Given the description of an element on the screen output the (x, y) to click on. 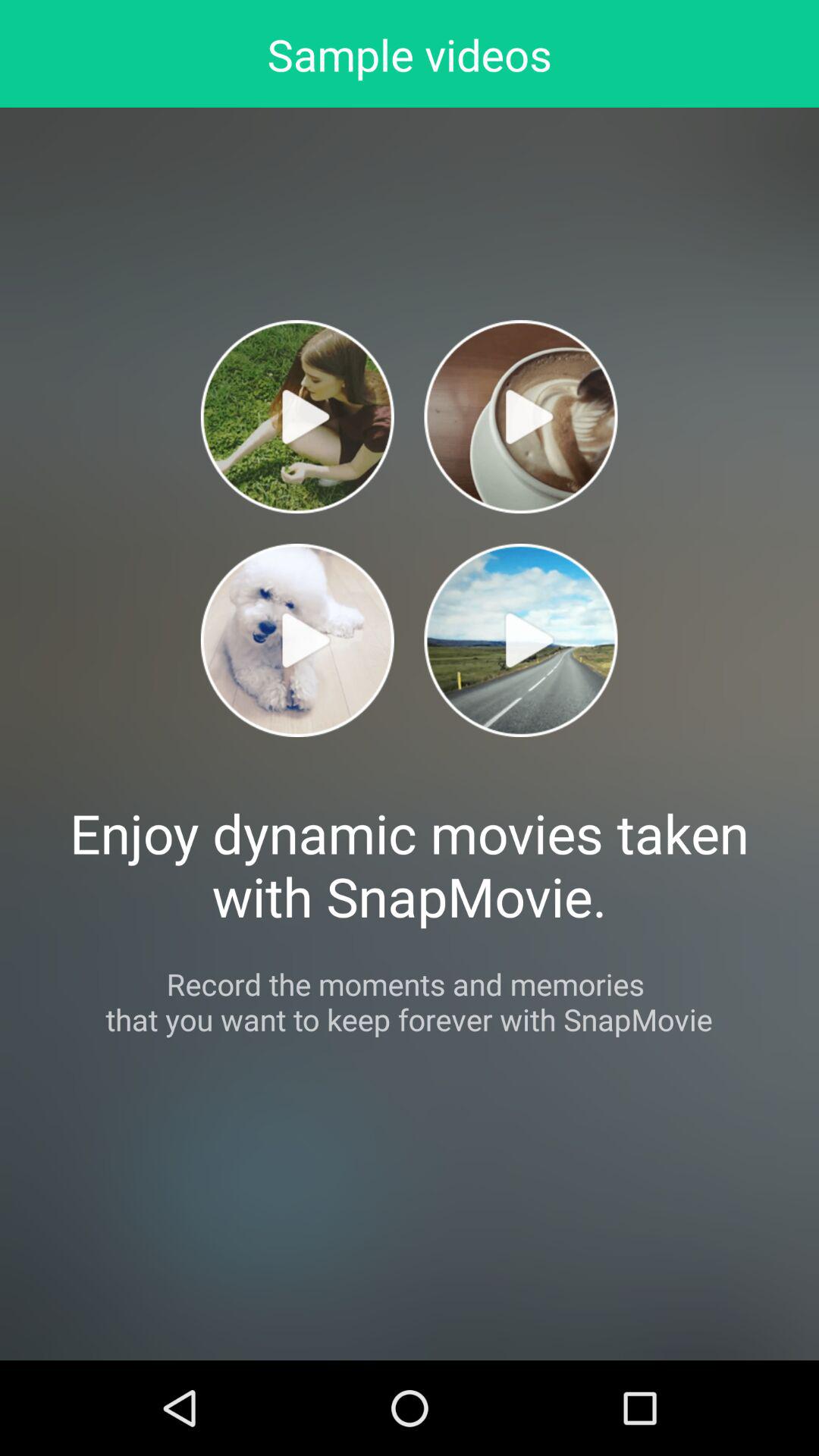
video 1 (297, 416)
